Given the description of an element on the screen output the (x, y) to click on. 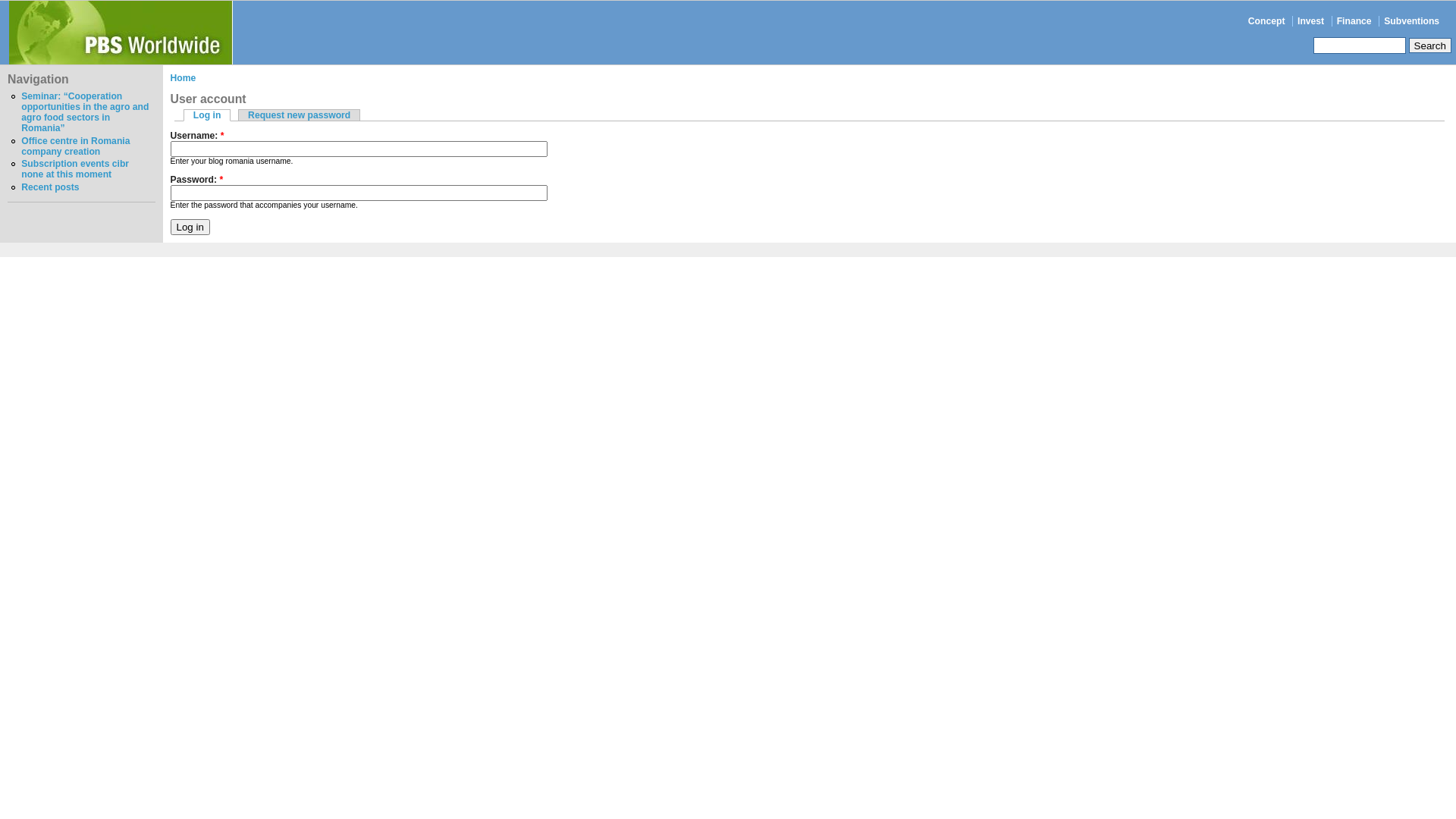
Subventions Element type: text (1411, 20)
Log in Element type: text (207, 115)
Finance Element type: text (1353, 20)
Enter the terms you wish to search for. Element type: hover (1359, 45)
Log in Element type: text (190, 227)
Invest Element type: text (1310, 20)
Search Element type: text (1429, 45)
Subscription events cibr none at this moment Element type: text (74, 168)
Request new password Element type: text (299, 114)
Recent posts Element type: text (49, 187)
Concept Element type: text (1266, 20)
Home Element type: text (183, 77)
Office centre in Romania company creation Element type: text (75, 145)
